Given the description of an element on the screen output the (x, y) to click on. 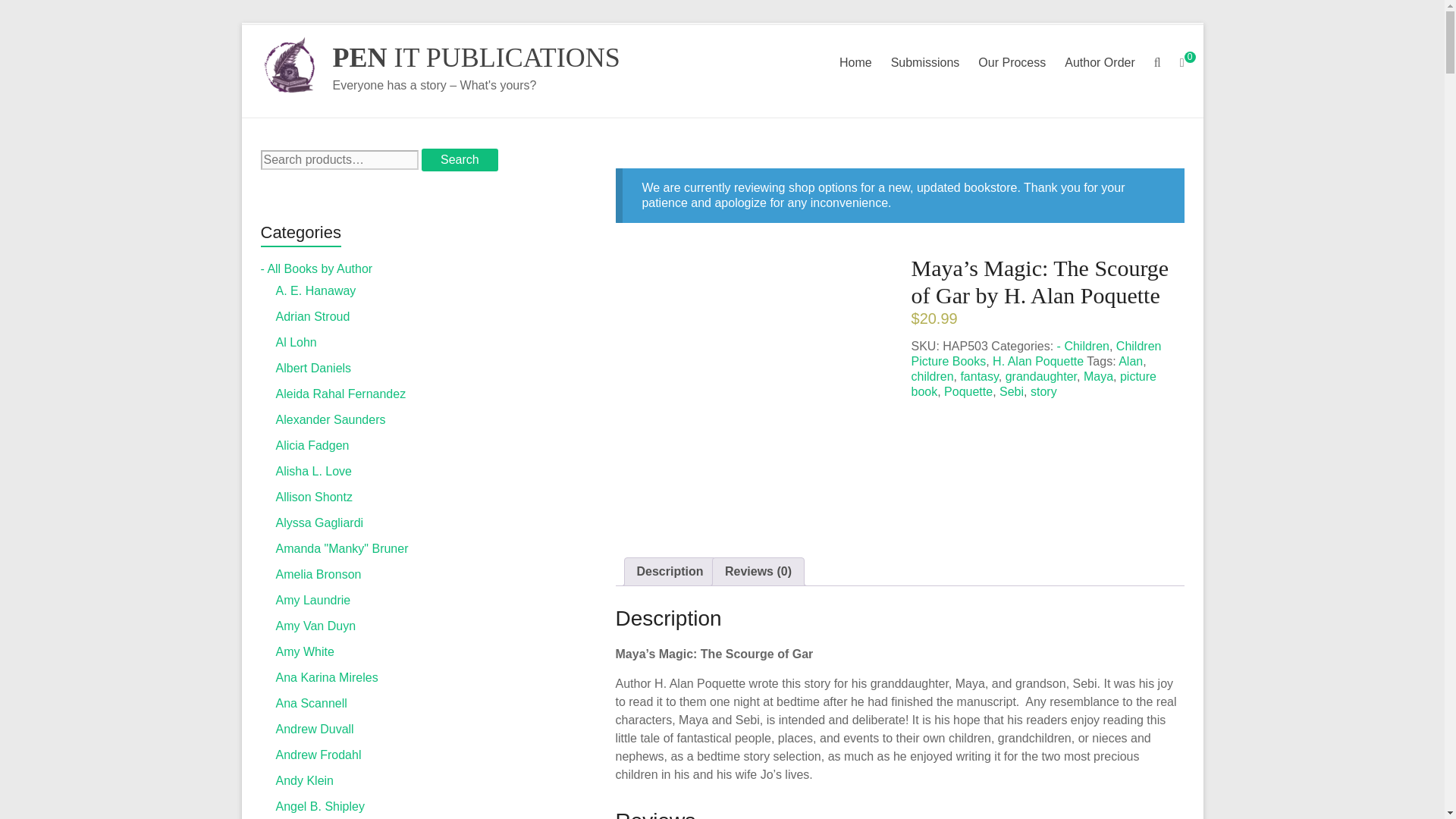
Home (856, 62)
Submissions (925, 62)
children (932, 376)
Albert Daniels (314, 367)
Sebi (1010, 391)
Maya (1098, 376)
Search (459, 159)
Alan (1130, 360)
Pen It Publications (475, 57)
Poquette (967, 391)
picture book (1033, 384)
Author Order (1099, 62)
Al Lohn (296, 341)
Our Process (1011, 62)
